Given the description of an element on the screen output the (x, y) to click on. 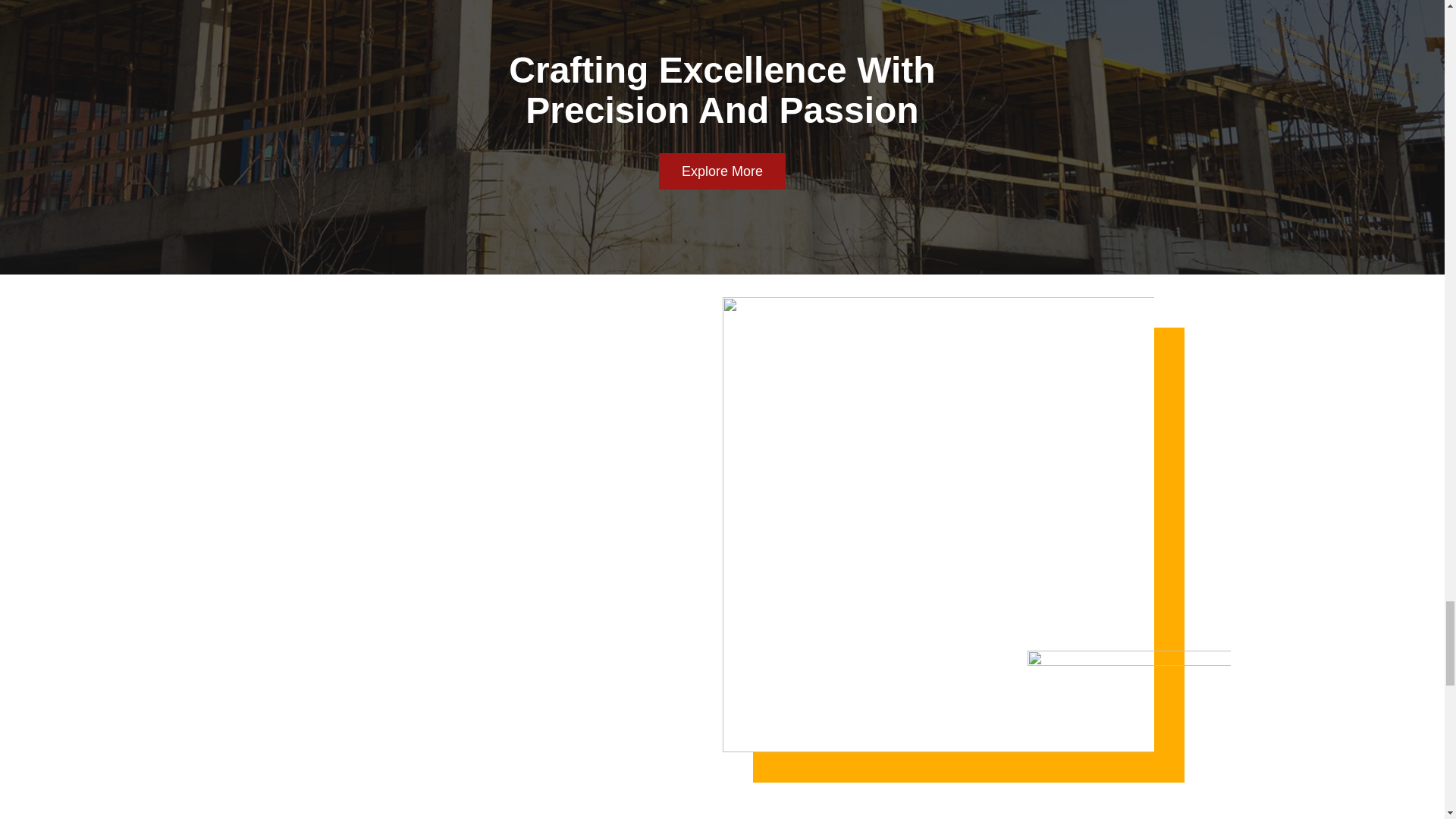
Explore More (722, 171)
